Given the description of an element on the screen output the (x, y) to click on. 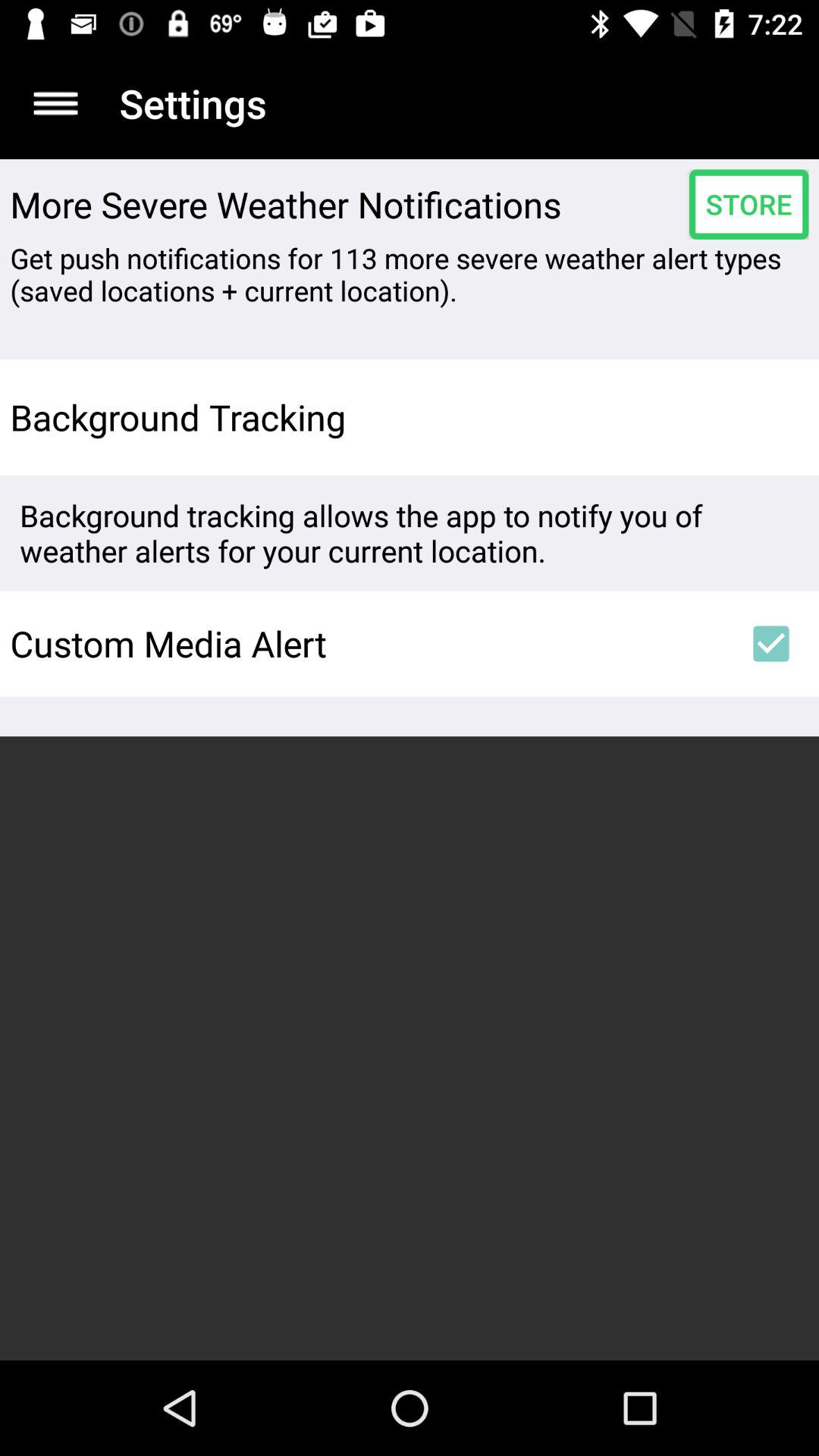
select the icon below the background tracking allows (366, 643)
